Given the description of an element on the screen output the (x, y) to click on. 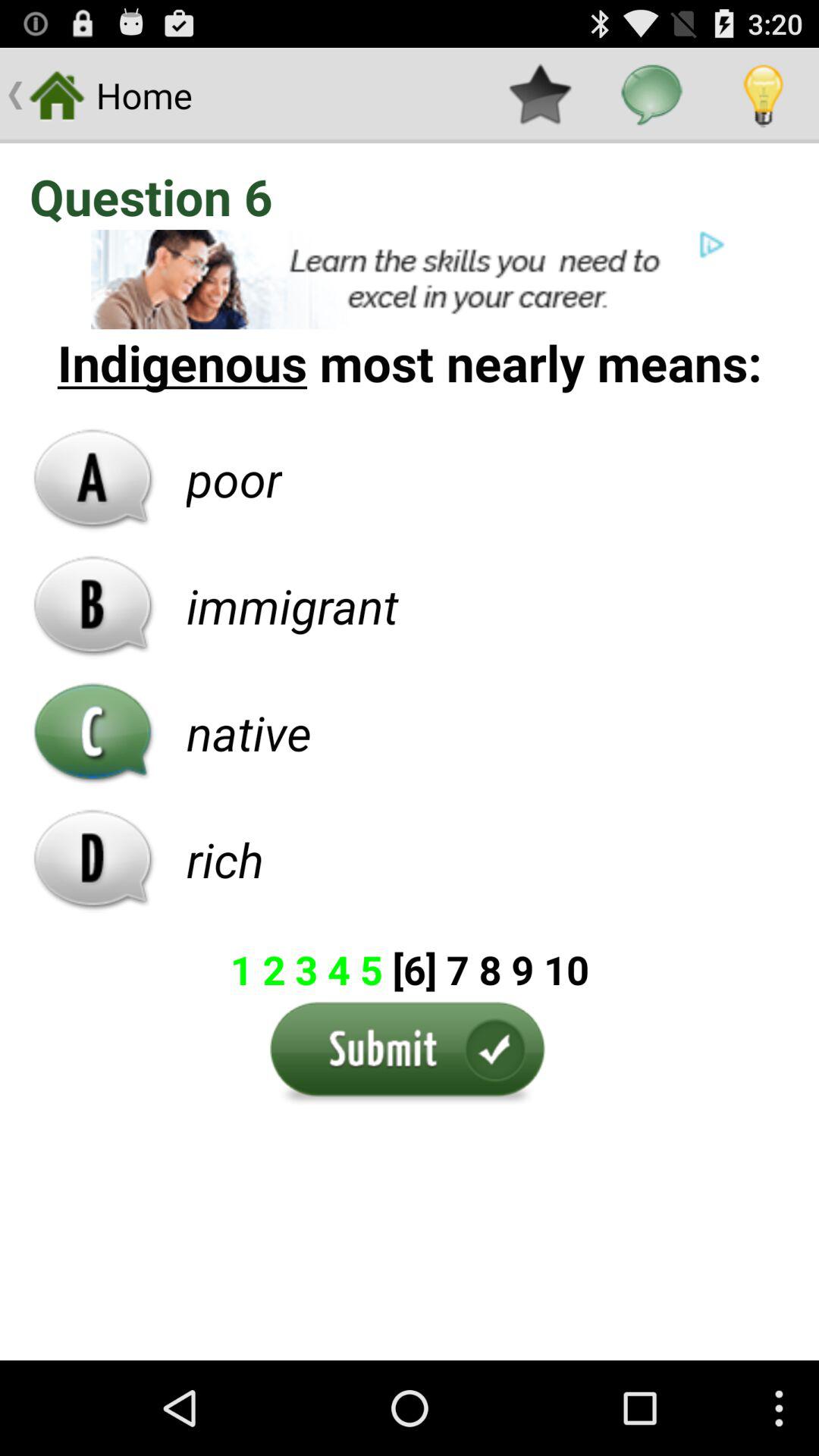
click advertisement (409, 279)
